Given the description of an element on the screen output the (x, y) to click on. 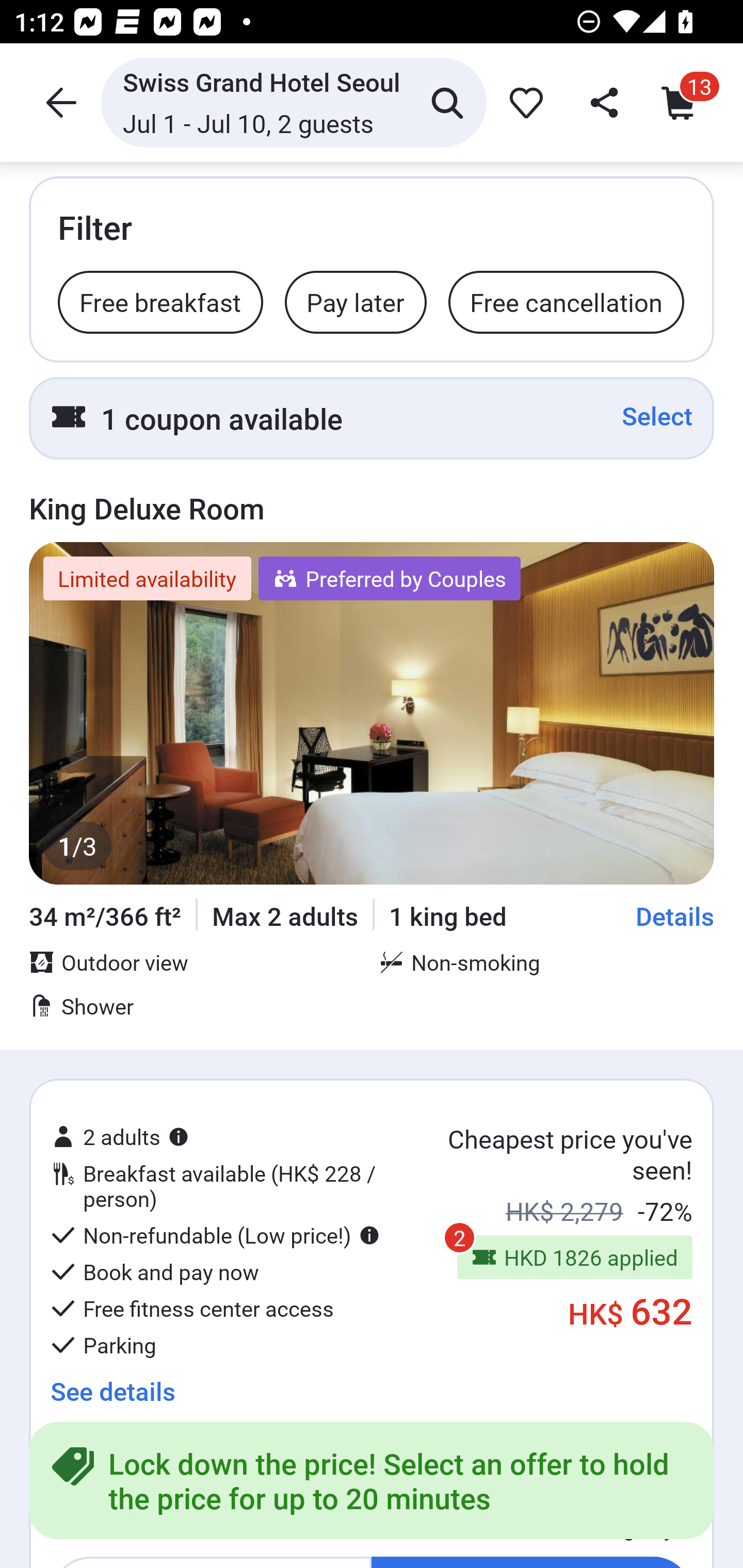
header icon (59, 102)
favorite_icon 0dbe6efb (522, 102)
share_header_icon (601, 102)
Cart icon cart_item_count 13 (683, 102)
Free breakfast (160, 301)
Pay later (355, 301)
Free cancellation (566, 301)
Select (656, 416)
1 coupon available Select (371, 417)
image (371, 713)
Details (674, 916)
2 adults (119, 1136)
Non-refundable (Low price!) (215, 1234)
